Given the description of an element on the screen output the (x, y) to click on. 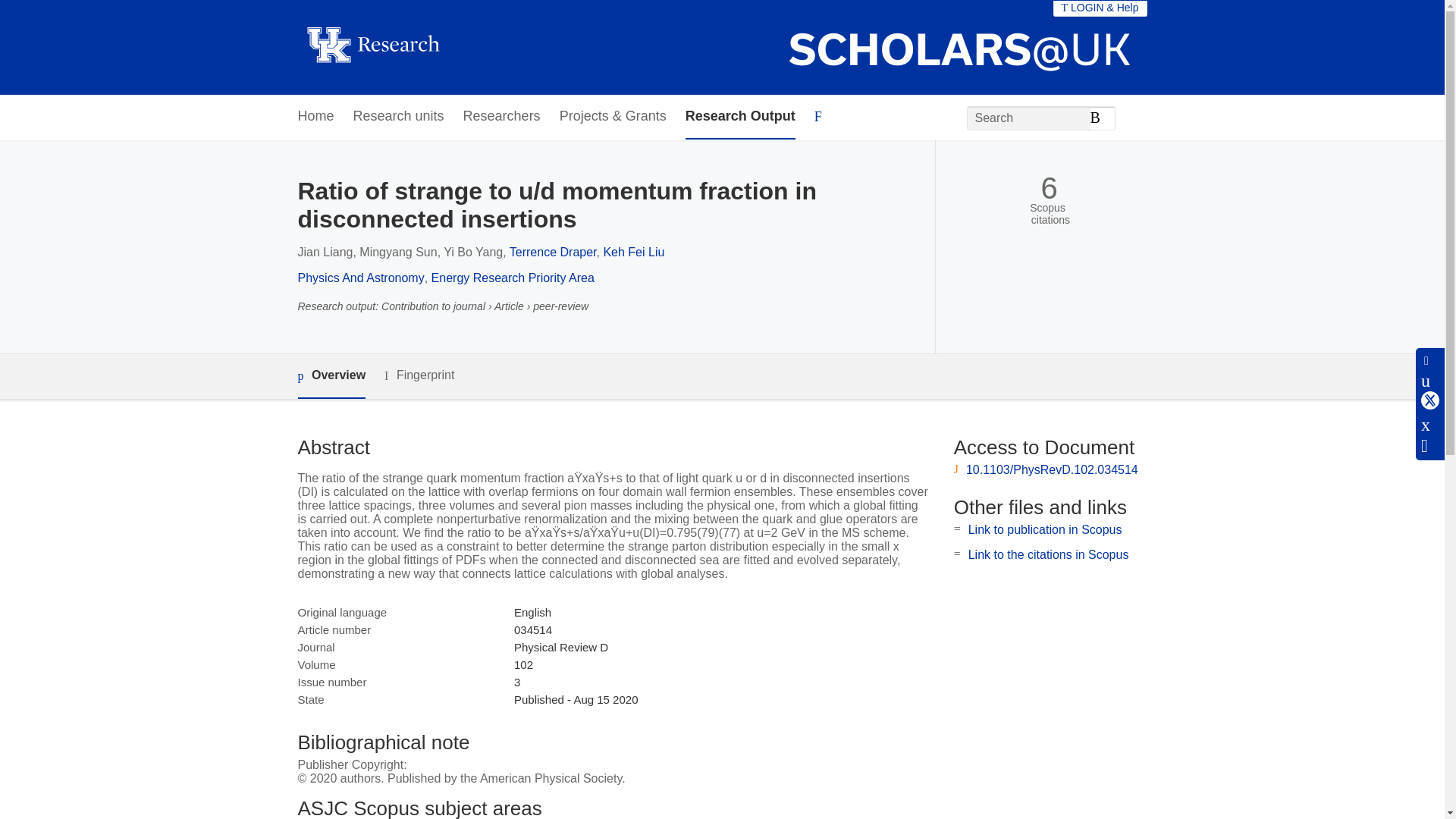
University of Kentucky Home (372, 47)
Keh Fei Liu (632, 251)
Overview (331, 375)
Energy Research Priority Area (512, 277)
Terrence Draper (552, 251)
Fingerprint (419, 375)
Researchers (501, 117)
Physics And Astronomy (360, 277)
Research units (398, 117)
Link to the citations in Scopus (1048, 554)
Link to publication in Scopus (1045, 529)
Research Output (739, 117)
